Given the description of an element on the screen output the (x, y) to click on. 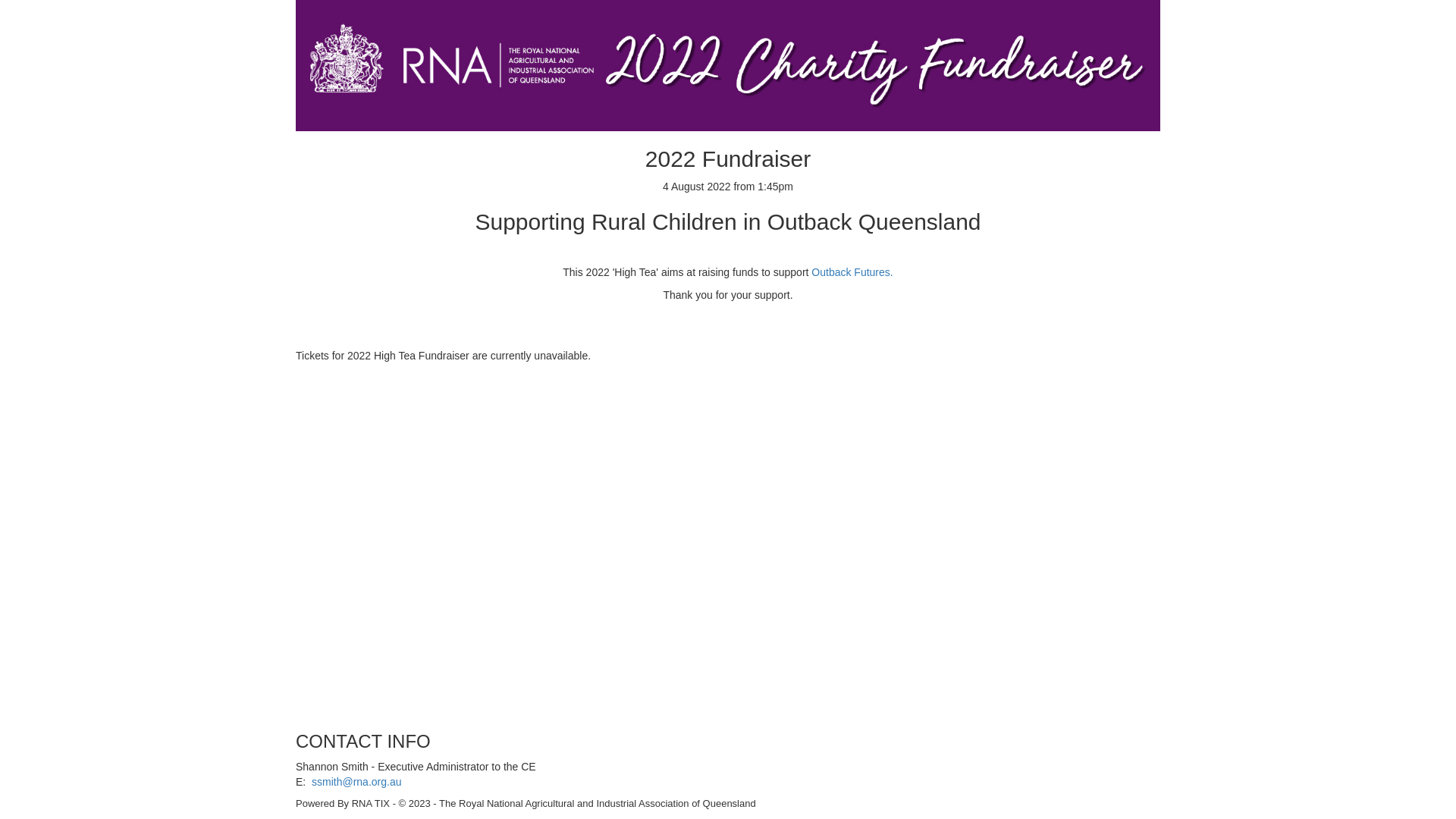
Outback Futures. Element type: text (851, 272)
ssmith@rna.org.au Element type: text (356, 781)
